Given the description of an element on the screen output the (x, y) to click on. 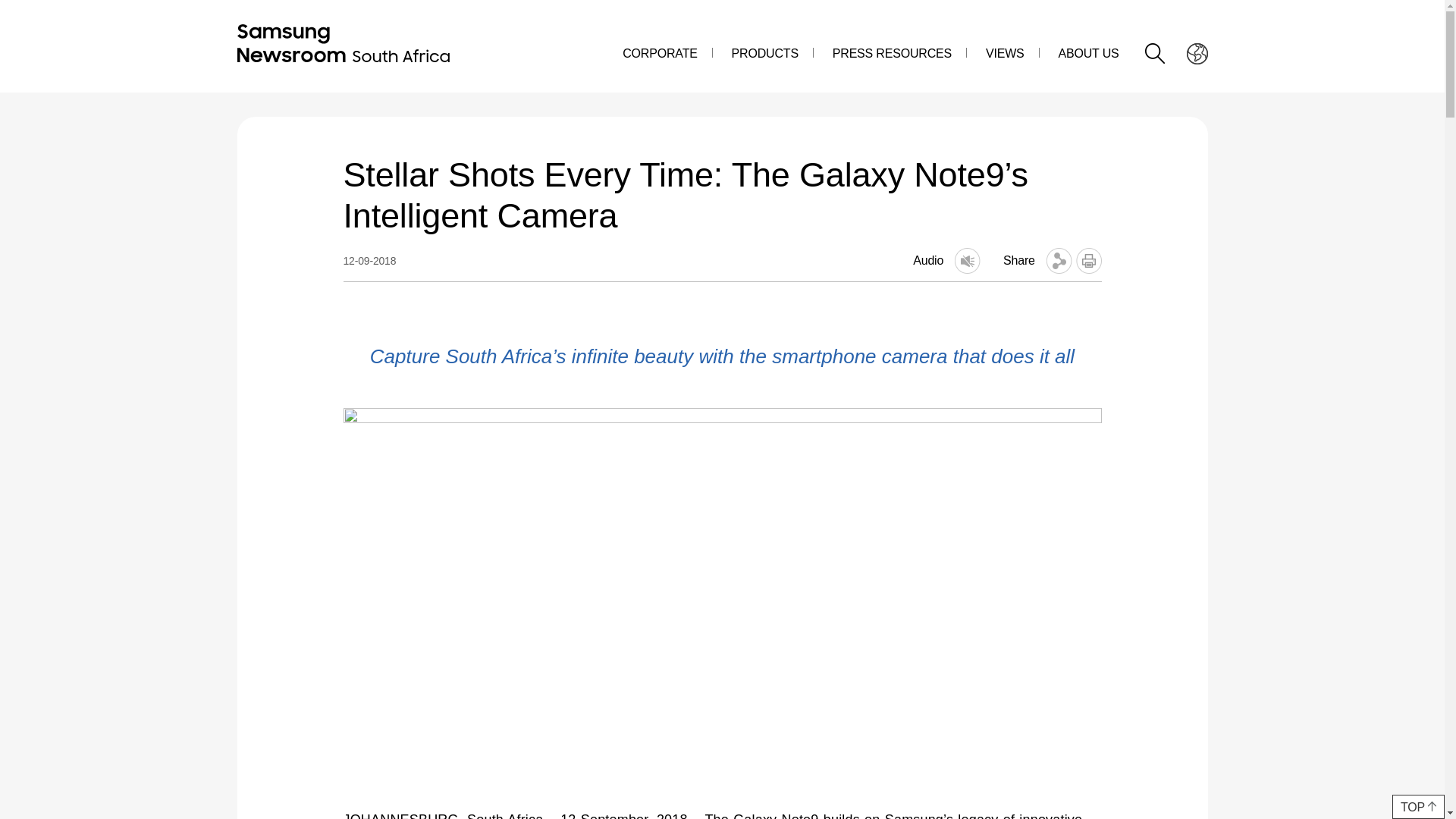
VIEWS (1005, 53)
PRODUCTS (764, 53)
PRESS RESOURCES (891, 53)
ABOUT US (1088, 53)
Search open (1155, 53)
CORPORATE (660, 53)
Nation choice page link (1195, 53)
